Given the description of an element on the screen output the (x, y) to click on. 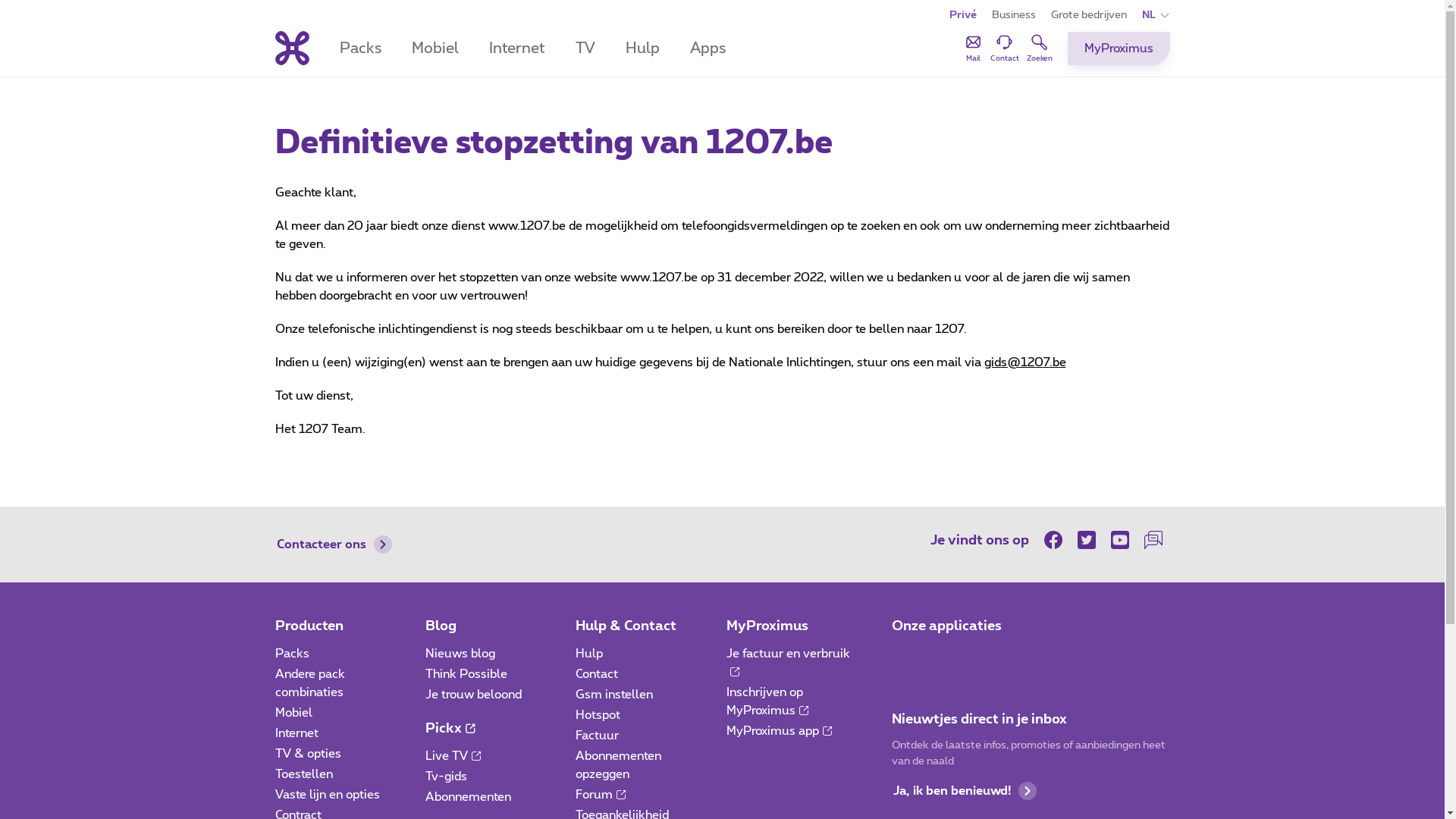
Inschrijven op MyProximus Element type: text (767, 701)
Mobiel Element type: text (434, 48)
NL Element type: text (1156, 15)
Contact Element type: text (596, 674)
MyProximus (Nieuw venster) Element type: hover (905, 657)
Internet Element type: text (516, 48)
Vaste lijn en opties Element type: text (326, 794)
Ja, ik ben benieuwd! Element type: text (964, 790)
Tv-gids Element type: text (446, 776)
Nieuw venster Element type: hover (475, 756)
Forum Element type: text (600, 794)
Hulp Element type: text (641, 48)
Nieuw venster Element type: hover (734, 672)
Abonnementen Element type: text (468, 796)
Youtube (Nieuw venster) Element type: hover (1118, 539)
Live TV Element type: text (452, 755)
Nieuw venster Element type: hover (620, 794)
Hulp Element type: text (588, 653)
Contacteer ons Element type: text (333, 544)
Mail Element type: text (972, 47)
TV Element type: text (584, 48)
Business Element type: text (1013, 14)
Pickx Element type: text (449, 728)
Pickx (Nieuw venster) Element type: hover (947, 657)
Contact Element type: text (1004, 47)
Nieuw venster Element type: hover (469, 728)
Apps Element type: text (707, 48)
MyProximus Element type: text (767, 626)
Think Possible Element type: text (466, 674)
TV & opties Element type: text (307, 753)
Gsm instellen Element type: text (613, 694)
Twitter (Nieuw venster) Element type: hover (1085, 539)
MyProximus app Element type: text (778, 730)
Zoeken Element type: text (1039, 47)
Je factuur en verbruik Element type: text (788, 662)
gids@1207.be Element type: text (1025, 362)
Toestellen Element type: text (303, 774)
Nieuw venster Element type: hover (826, 731)
Andere pack combinaties Element type: text (309, 683)
Packs Element type: text (360, 48)
Facebook (Nieuw venster) Element type: hover (1056, 539)
Terug naar de homepagina Element type: text (291, 48)
Nieuw venster Element type: hover (803, 710)
Doktr (Nieuw venster) Element type: hover (1032, 657)
Abonnementen opzeggen Element type: text (618, 764)
Factuur Element type: text (596, 735)
Grote bedrijven Element type: text (1088, 14)
Onze applicaties Element type: text (946, 626)
Nieuws blog Element type: text (460, 653)
Hotspot Element type: text (597, 715)
Forum (Nieuw venster) Element type: hover (1152, 539)
Je trouw beloond Element type: text (473, 694)
Internet Element type: text (295, 733)
MyProximus Element type: text (1118, 48)
Packs Element type: text (291, 653)
Mobiel Element type: text (292, 712)
Banx (Nieuw venster) Element type: hover (990, 657)
